Given the description of an element on the screen output the (x, y) to click on. 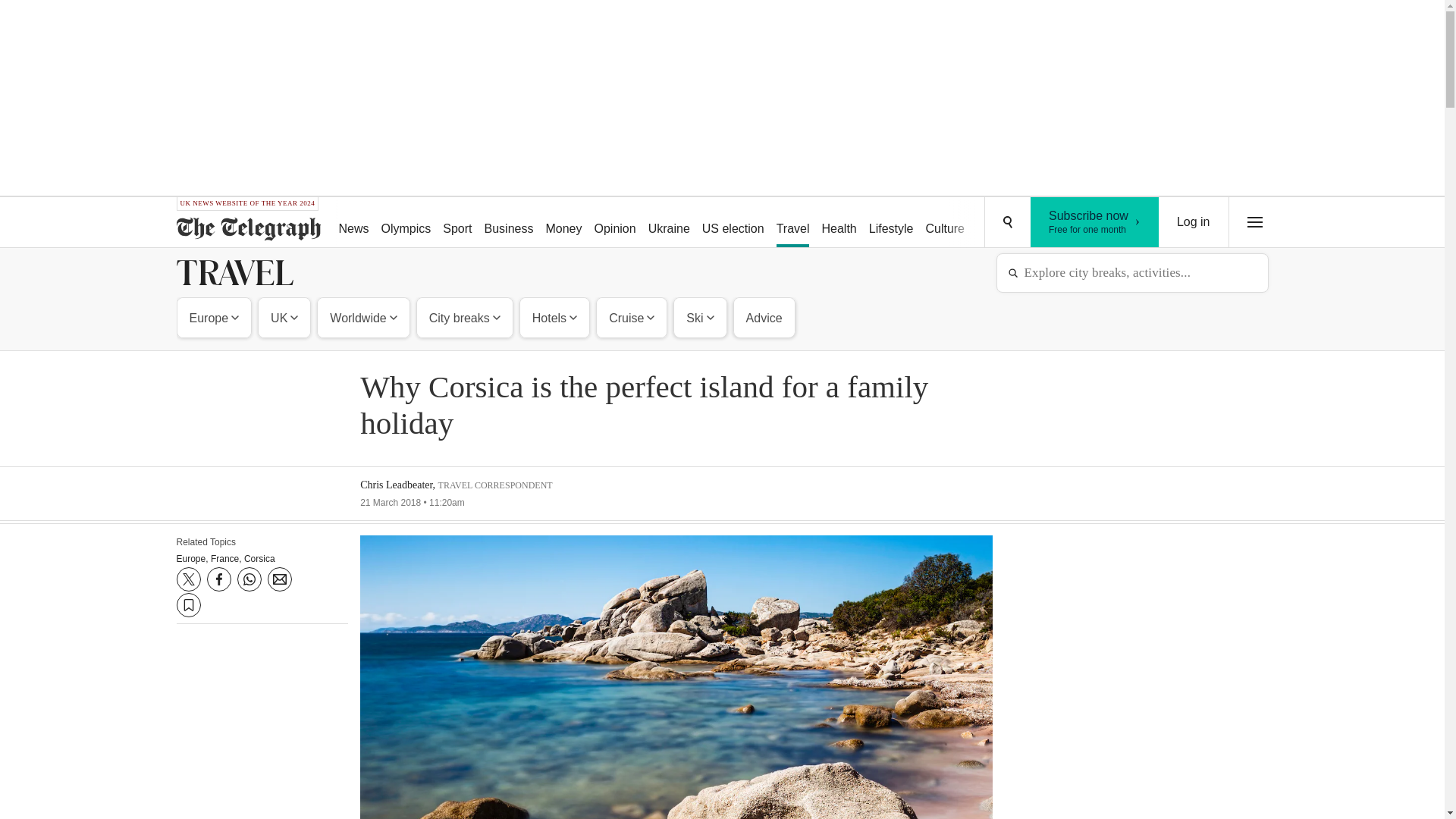
Puzzles (998, 223)
Business (509, 223)
Money (563, 223)
Lifestyle (891, 223)
UK (284, 317)
Health (838, 223)
Travel (1094, 222)
Podcasts (792, 223)
Opinion (1056, 223)
US election (615, 223)
Worldwide (732, 223)
Culture (363, 317)
Europe (944, 223)
Olympics (214, 317)
